Given the description of an element on the screen output the (x, y) to click on. 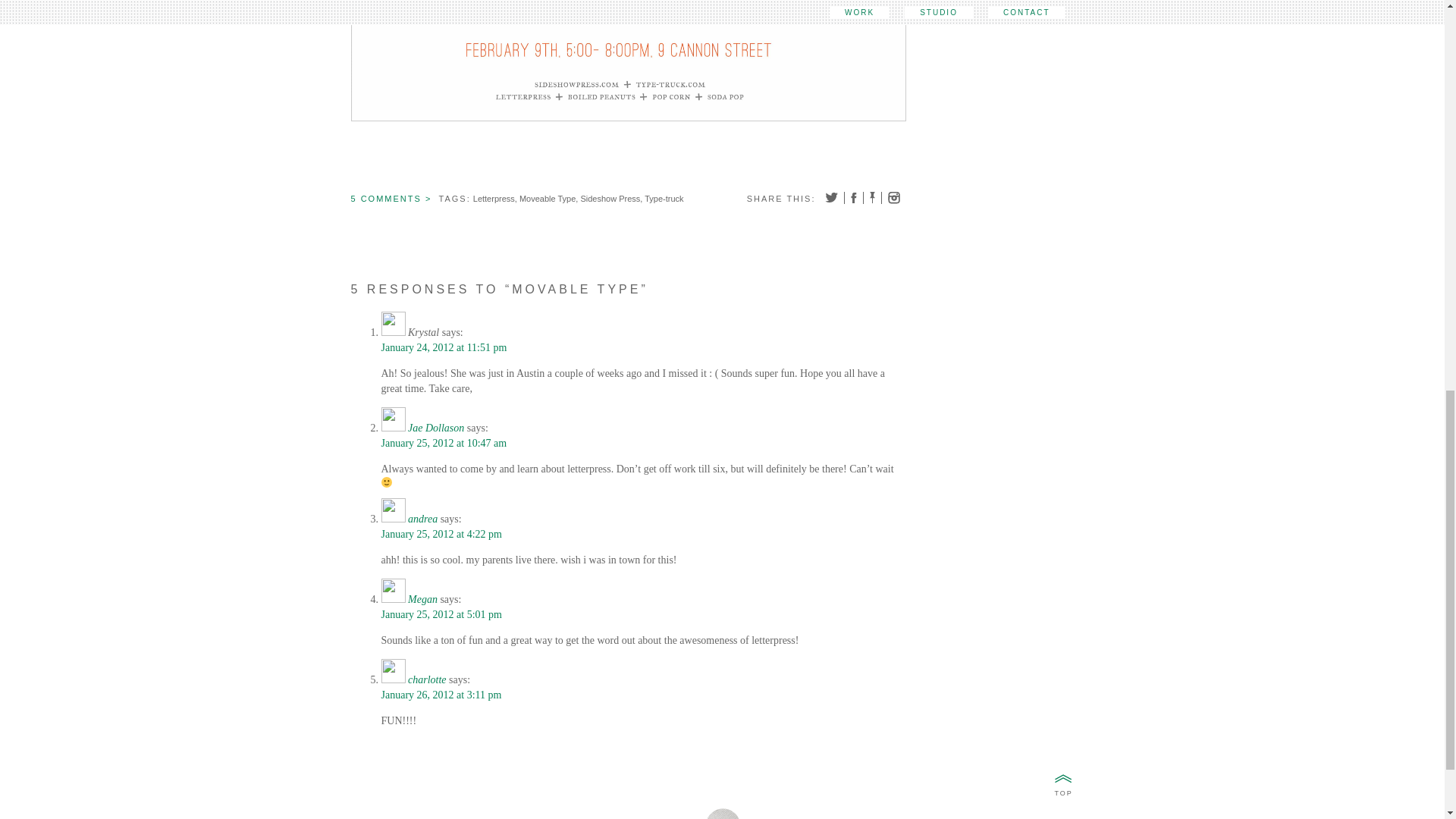
January 24, 2012 at 11:51 pm (443, 347)
Jae Dollason (435, 428)
Letterpress (494, 198)
January 25, 2012 at 4:22 pm (440, 533)
January 26, 2012 at 3:11 pm (440, 695)
January 25, 2012 at 5:01 pm (440, 614)
andrea (422, 518)
Sideshow Press (609, 198)
Type-truck (663, 198)
Megan (422, 599)
Moveable Type (547, 198)
charlotte (426, 679)
January 25, 2012 at 10:47 am (443, 442)
